Given the description of an element on the screen output the (x, y) to click on. 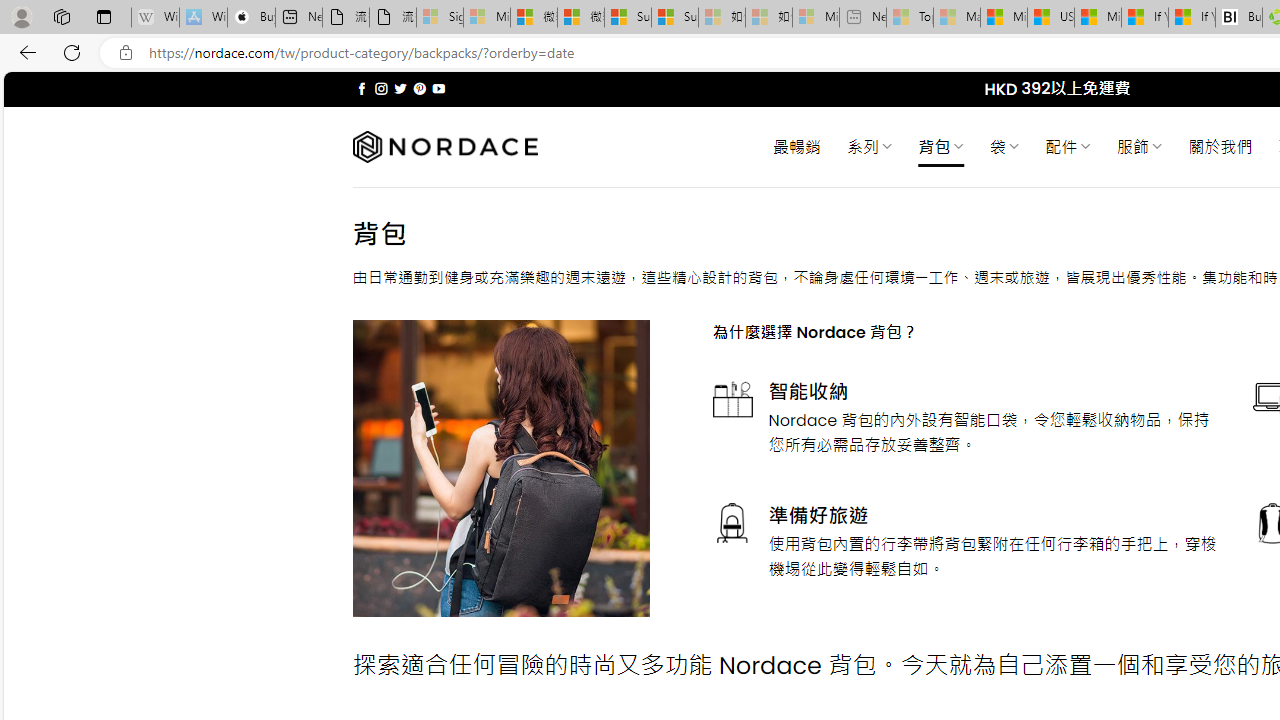
Marine life - MSN - Sleeping (957, 17)
Follow on Twitter (400, 88)
Follow on Instagram (381, 88)
Sign in to your Microsoft account - Sleeping (440, 17)
